Given the description of an element on the screen output the (x, y) to click on. 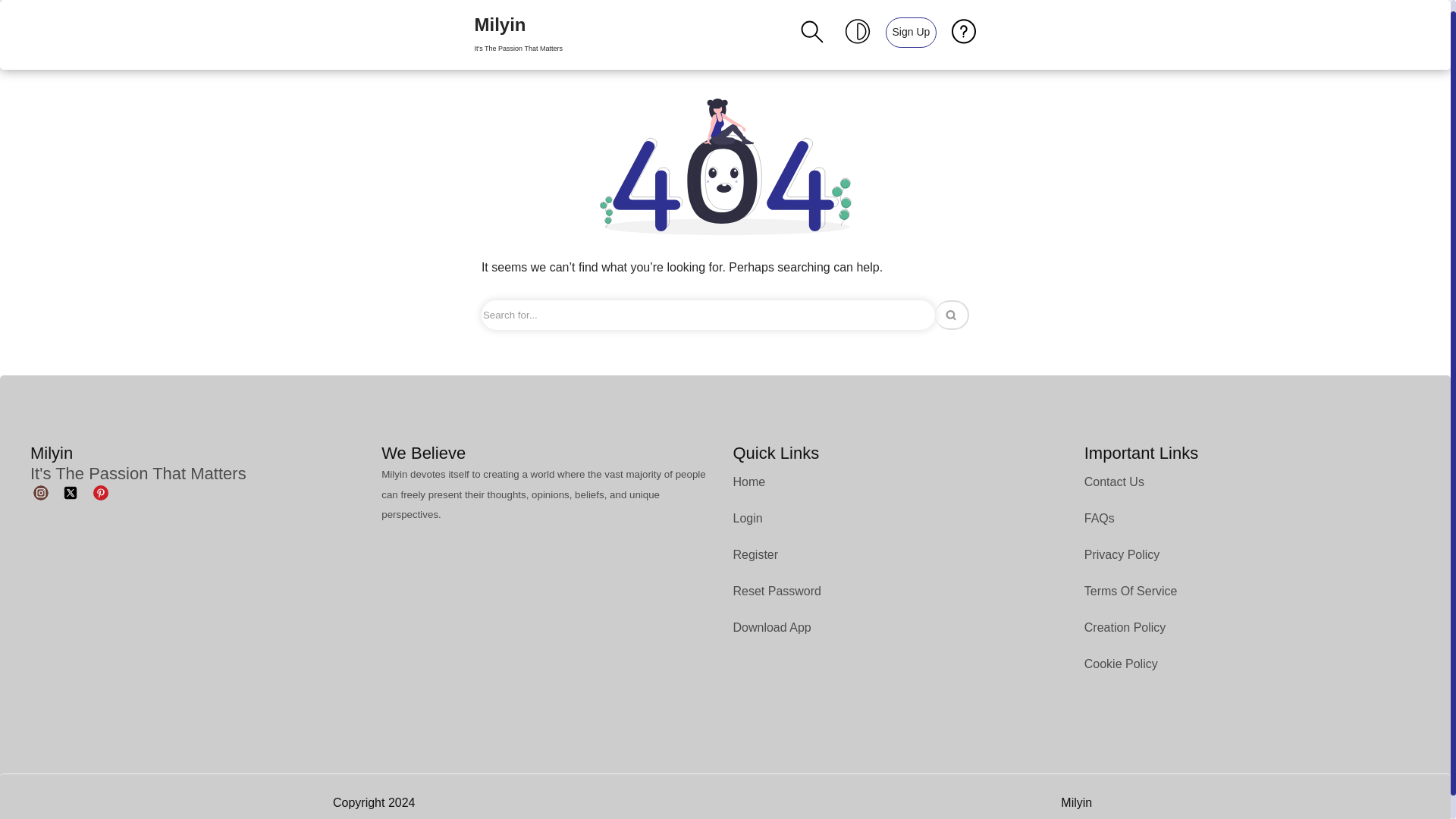
Sign Up (518, 34)
Sign Up (910, 31)
Skip to content (911, 32)
Milyin (11, 31)
